Given the description of an element on the screen output the (x, y) to click on. 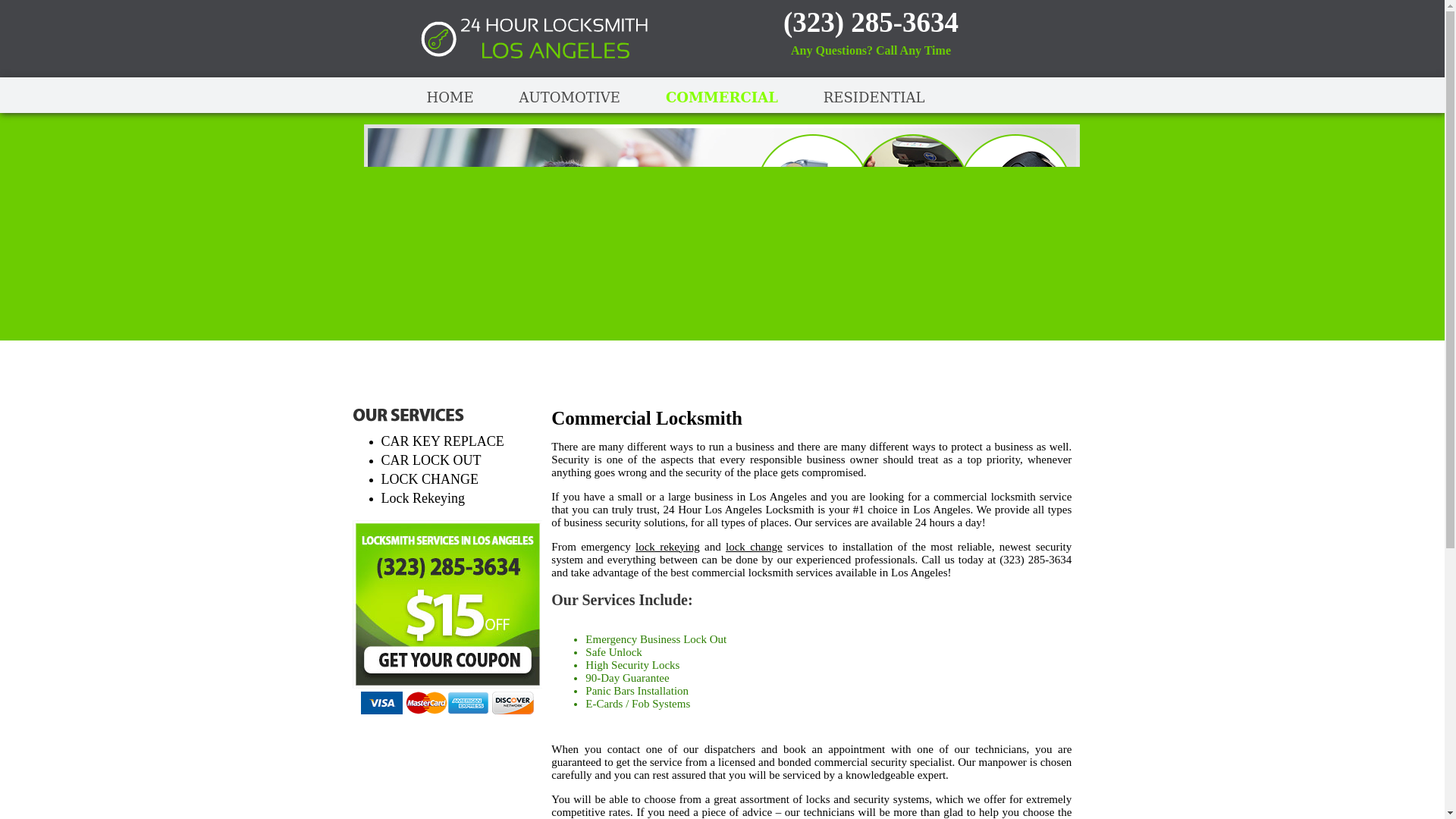
Los Angeles Lock Change (429, 478)
lock rekeying (667, 545)
AUTOMOTIVE (569, 97)
CAR KEY REPLACE (441, 441)
Lock Rekeying (422, 498)
CAR LOCK OUT (430, 459)
Los Angeles Lock Rekeying (422, 498)
RESIDENTIAL (874, 97)
LOCK CHANGE (429, 478)
COMMERCIAL (721, 97)
